Given the description of an element on the screen output the (x, y) to click on. 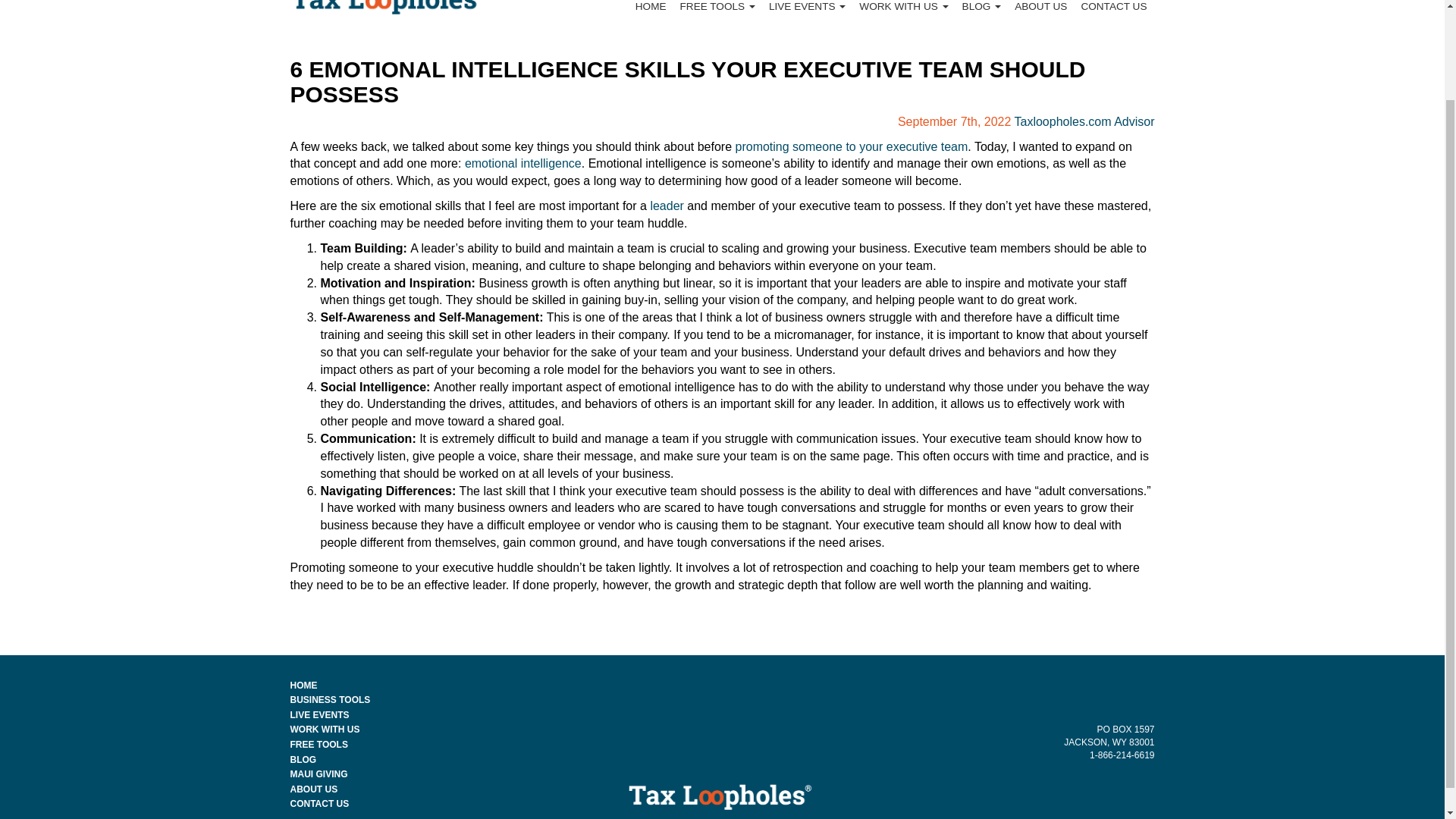
promoting someone to your executive team (851, 146)
Blog (982, 12)
WORK WITH US (324, 728)
BLOG (302, 759)
ABOUT US (313, 788)
HOME (650, 12)
ABOUT US (1040, 12)
LIVE EVENTS (806, 12)
Taxloopholes.com Advisor (1084, 121)
1-866-214-6619 (1121, 755)
